Given the description of an element on the screen output the (x, y) to click on. 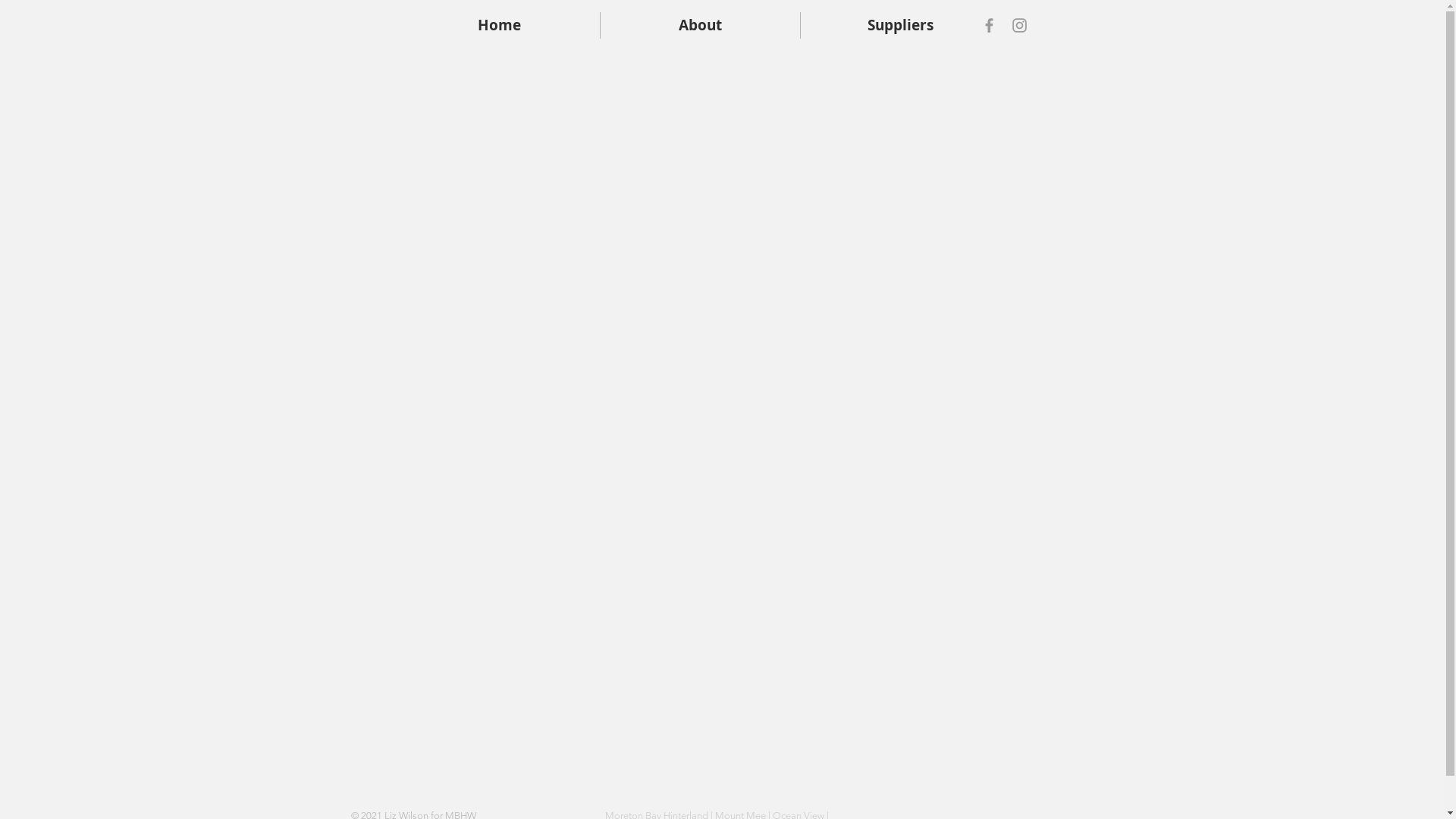
Suppliers Element type: text (900, 25)
Home Element type: text (498, 25)
About Element type: text (700, 25)
